Given the description of an element on the screen output the (x, y) to click on. 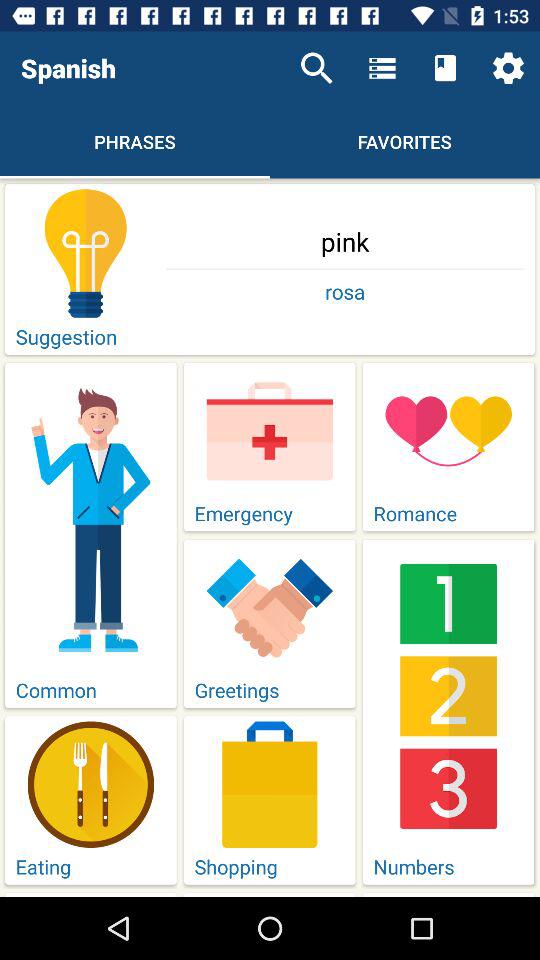
select icon to the right of the spanish item (316, 67)
